Given the description of an element on the screen output the (x, y) to click on. 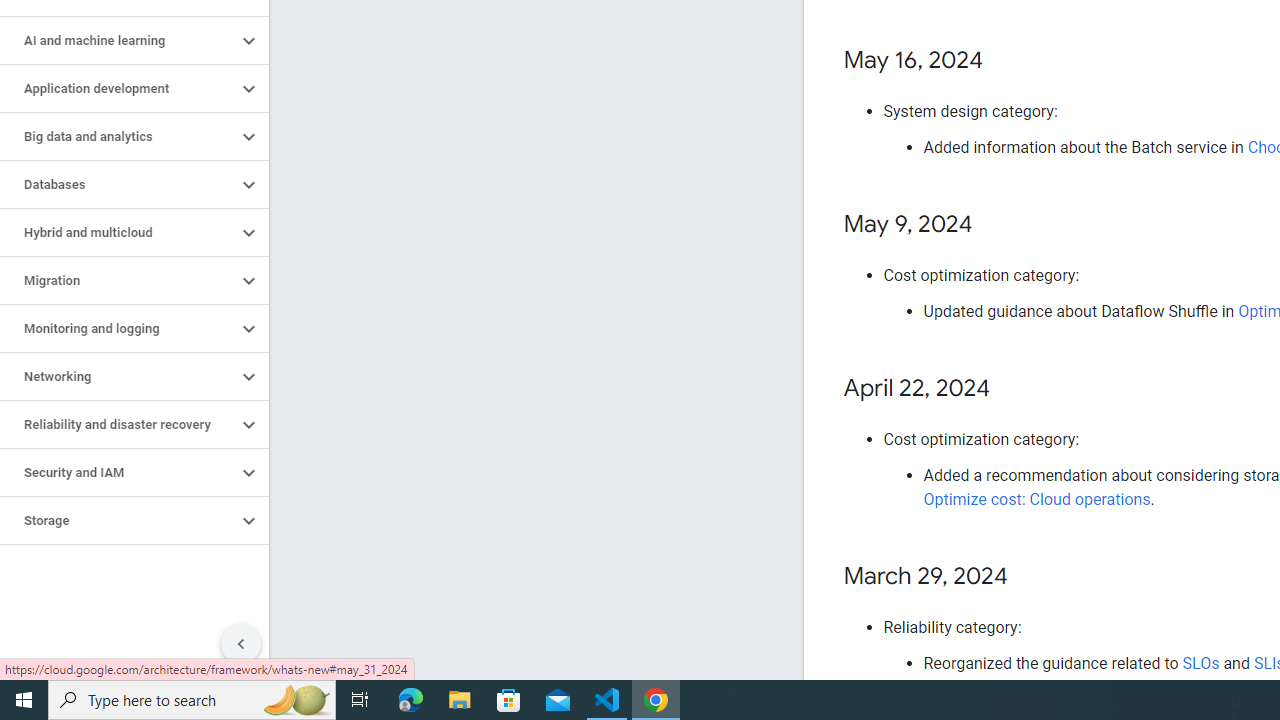
Copy link to this section: March 29, 2024 (1027, 577)
AI and machine learning (118, 40)
Hide side navigation (241, 643)
Copy link to this section: April 22, 2024 (1009, 389)
